Given the description of an element on the screen output the (x, y) to click on. 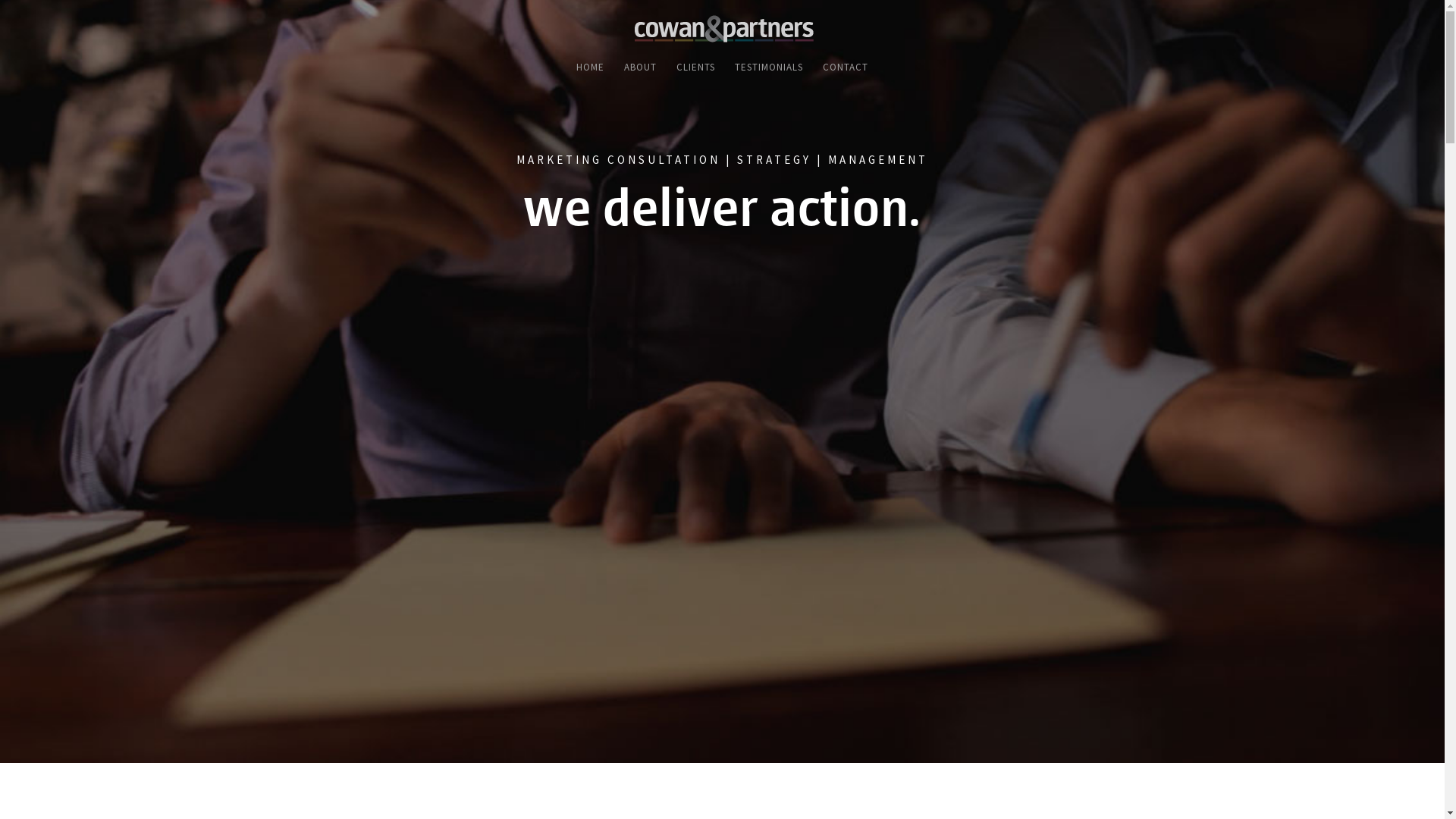
ABOUT Element type: text (640, 71)
HOME Element type: text (590, 71)
CONTACT Element type: text (845, 71)
CLIENTS Element type: text (695, 71)
TESTIMONIALS Element type: text (768, 71)
